Given the description of an element on the screen output the (x, y) to click on. 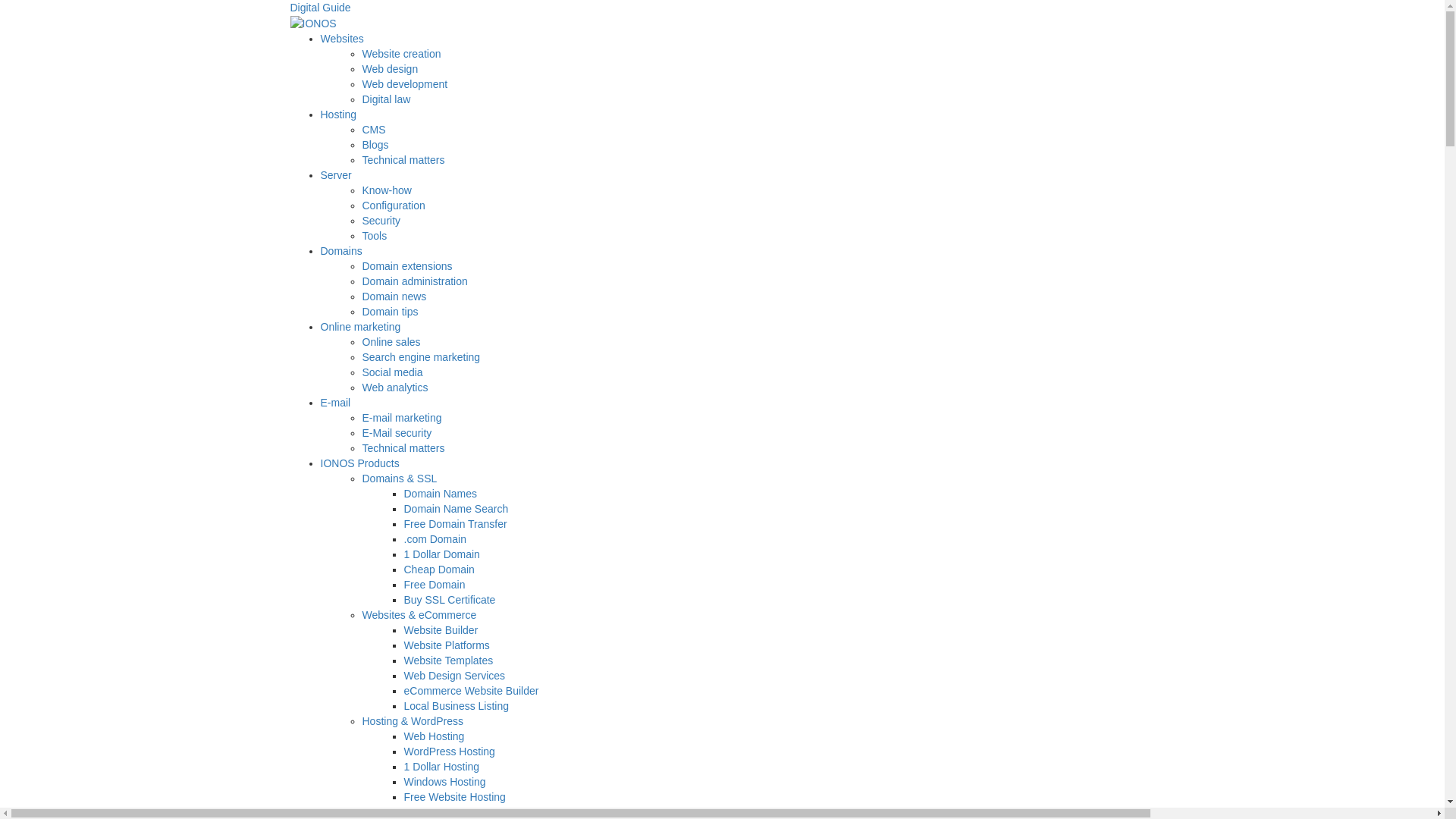
Digital law Element type: text (386, 99)
Social media Element type: text (392, 372)
eCommerce Website Builder Element type: text (470, 690)
Domain administration Element type: text (414, 281)
.com Domain Element type: text (434, 539)
Blogs Element type: text (375, 144)
Domain tips Element type: text (390, 311)
Buy SSL Certificate Element type: text (449, 599)
Free Domain Transfer Element type: text (454, 523)
Tools Element type: text (374, 235)
CMS Element type: text (373, 129)
Hosting & WordPress Element type: text (413, 721)
Web development Element type: text (405, 84)
Search engine marketing Element type: text (421, 357)
Configuration Element type: text (393, 205)
Security Element type: text (381, 220)
Web analytics Element type: text (395, 387)
Domains & SSL Element type: text (399, 478)
Websites & eCommerce Element type: text (419, 614)
Technical matters Element type: text (403, 448)
Domain extensions Element type: text (407, 266)
Domain Names Element type: text (439, 493)
Online marketing Element type: text (360, 326)
Windows Hosting Element type: text (444, 781)
Domain news Element type: text (394, 296)
Web Design Services Element type: text (454, 675)
Websites Element type: text (341, 38)
E-mail marketing Element type: text (402, 417)
Local Business Listing Element type: text (455, 705)
Digital Guide Element type: text (721, 16)
WordPress Hosting Element type: text (448, 751)
1 Dollar Hosting Element type: text (441, 766)
Online sales Element type: text (391, 341)
Free Domain Element type: text (433, 584)
Know-how Element type: text (386, 190)
E-mail Element type: text (335, 402)
Domains Element type: text (340, 250)
Web design Element type: text (390, 68)
Website Platforms Element type: text (446, 645)
Technical matters Element type: text (403, 159)
1 Dollar Domain Element type: text (441, 554)
Web Hosting Element type: text (433, 736)
Website creation Element type: text (401, 53)
Office Element type: text (375, 812)
Website Builder Element type: text (440, 630)
Server Element type: text (335, 175)
Cheap Domain Element type: text (438, 569)
Domain Name Search Element type: text (455, 508)
IONOS Products Element type: text (359, 463)
Hosting Element type: text (337, 114)
Free Website Hosting Element type: text (454, 796)
E-Mail security Element type: text (397, 432)
Website Templates Element type: text (447, 660)
